Given the description of an element on the screen output the (x, y) to click on. 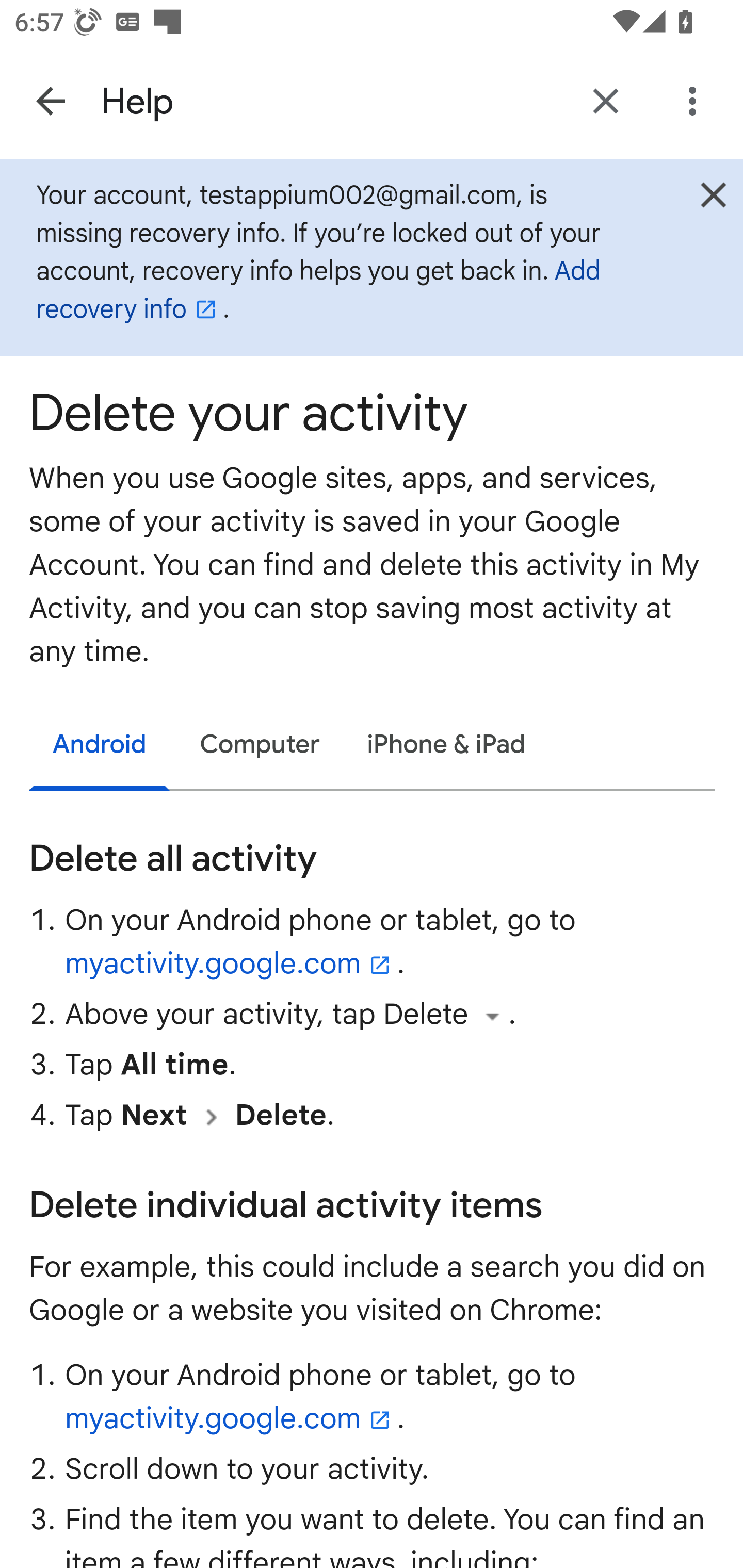
Navigate up (50, 101)
Return to Google Play services (605, 101)
More options (696, 101)
Close (713, 195)
Add recovery info (318, 290)
Android (99, 745)
Computer (259, 744)
iPhone & iPad (446, 744)
myactivity.google.com (231, 964)
myactivity.google.com (231, 1418)
